Given the description of an element on the screen output the (x, y) to click on. 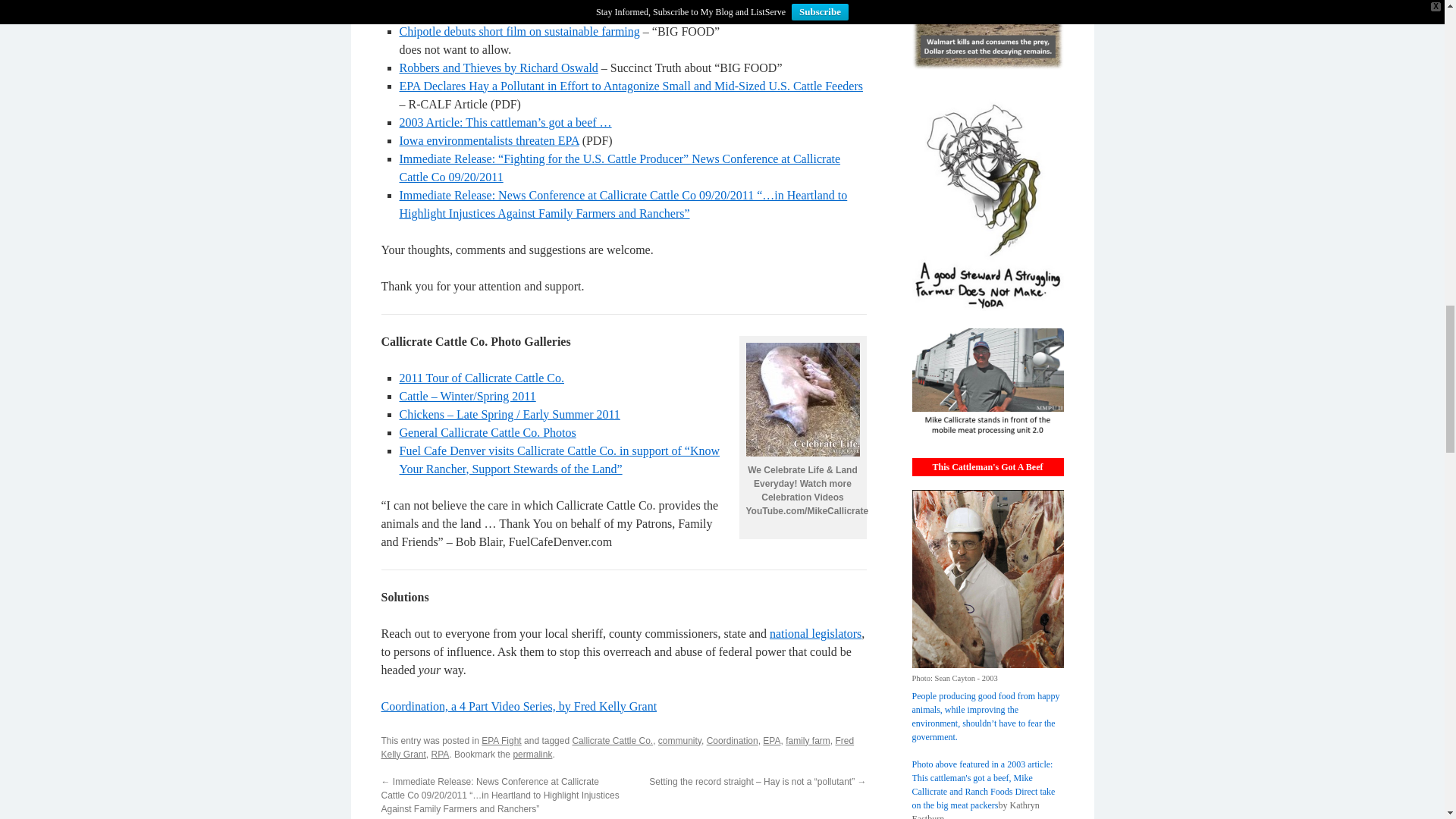
Chipotle debuts short film on sustainable farming (518, 31)
Robbers and Thieves by Richard Oswald (497, 67)
Iowa environmentalists threaten EPA (488, 140)
2011 Tour of Callicrate Cattle Co. (481, 377)
